Given the description of an element on the screen output the (x, y) to click on. 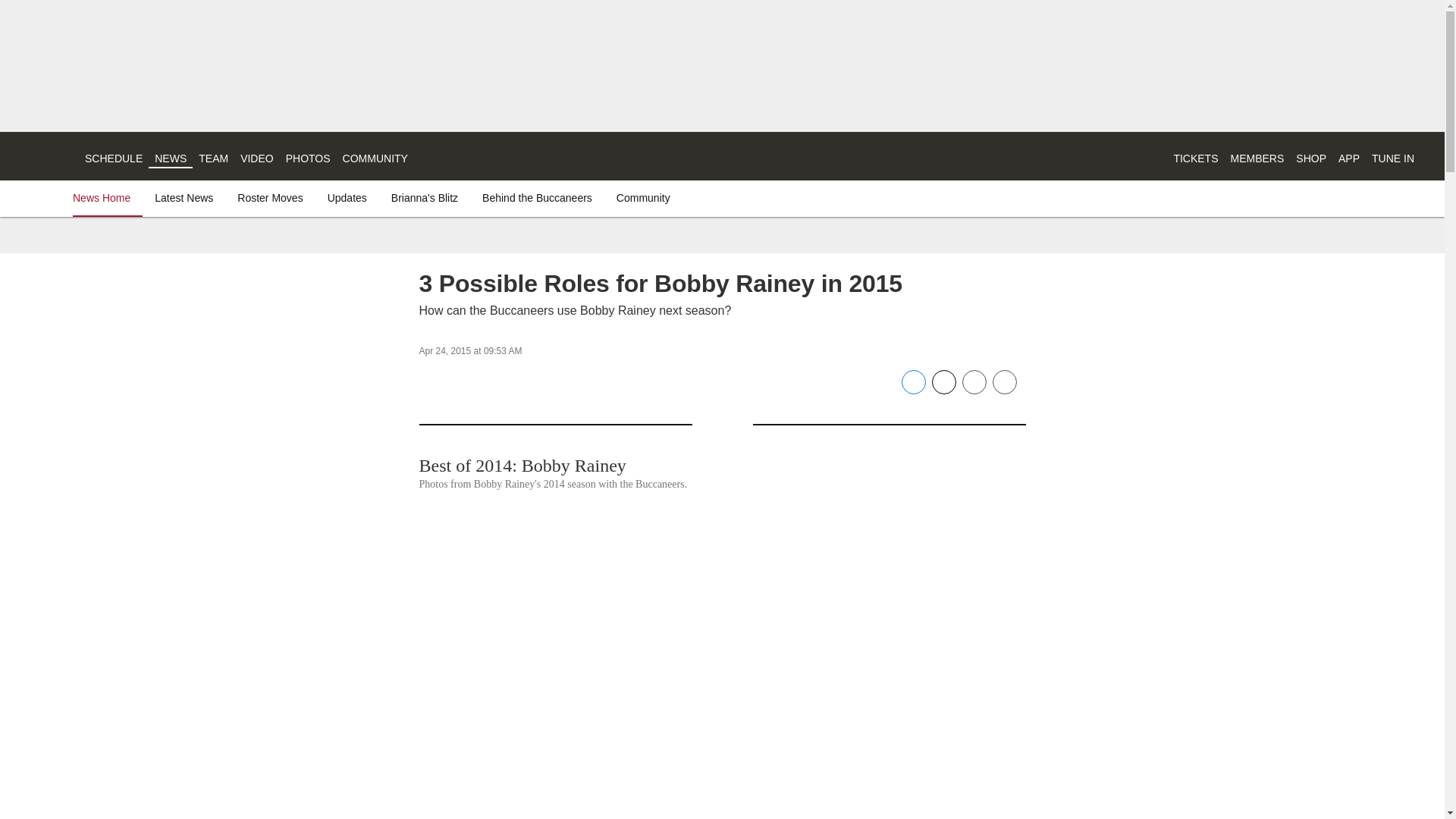
COMMUNITY (374, 157)
NEWS (170, 157)
PHOTOS (307, 157)
Updates (346, 197)
... (426, 156)
SHOP (1310, 157)
SCHEDULE (113, 157)
TEAM (213, 157)
Link to club's homepage (42, 156)
News Home (104, 197)
